Given the description of an element on the screen output the (x, y) to click on. 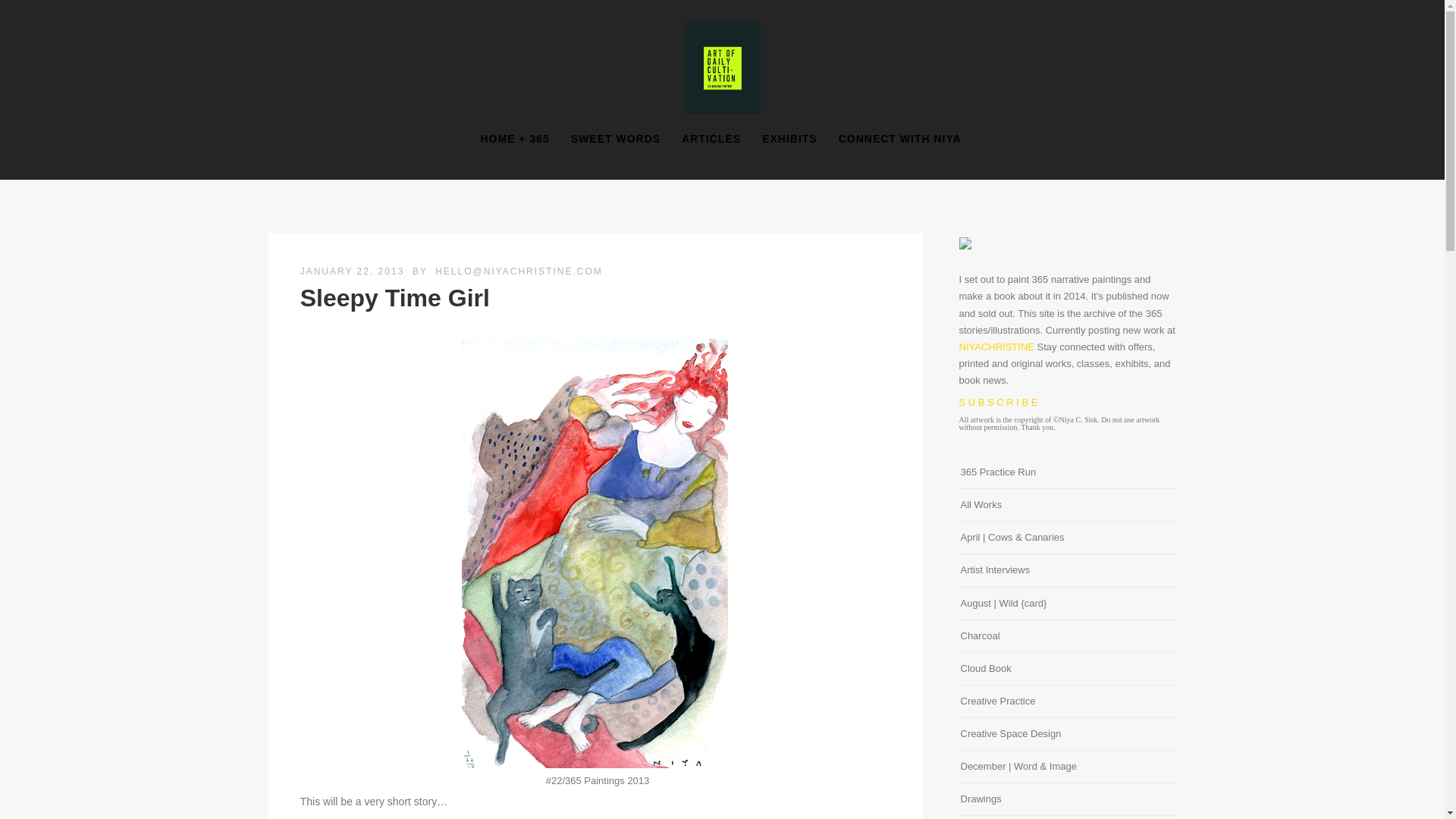
ARTICLES (711, 138)
EXHIBITS (789, 138)
CONNECT WITH NIYA (900, 138)
SWEET WORDS (615, 138)
